Given the description of an element on the screen output the (x, y) to click on. 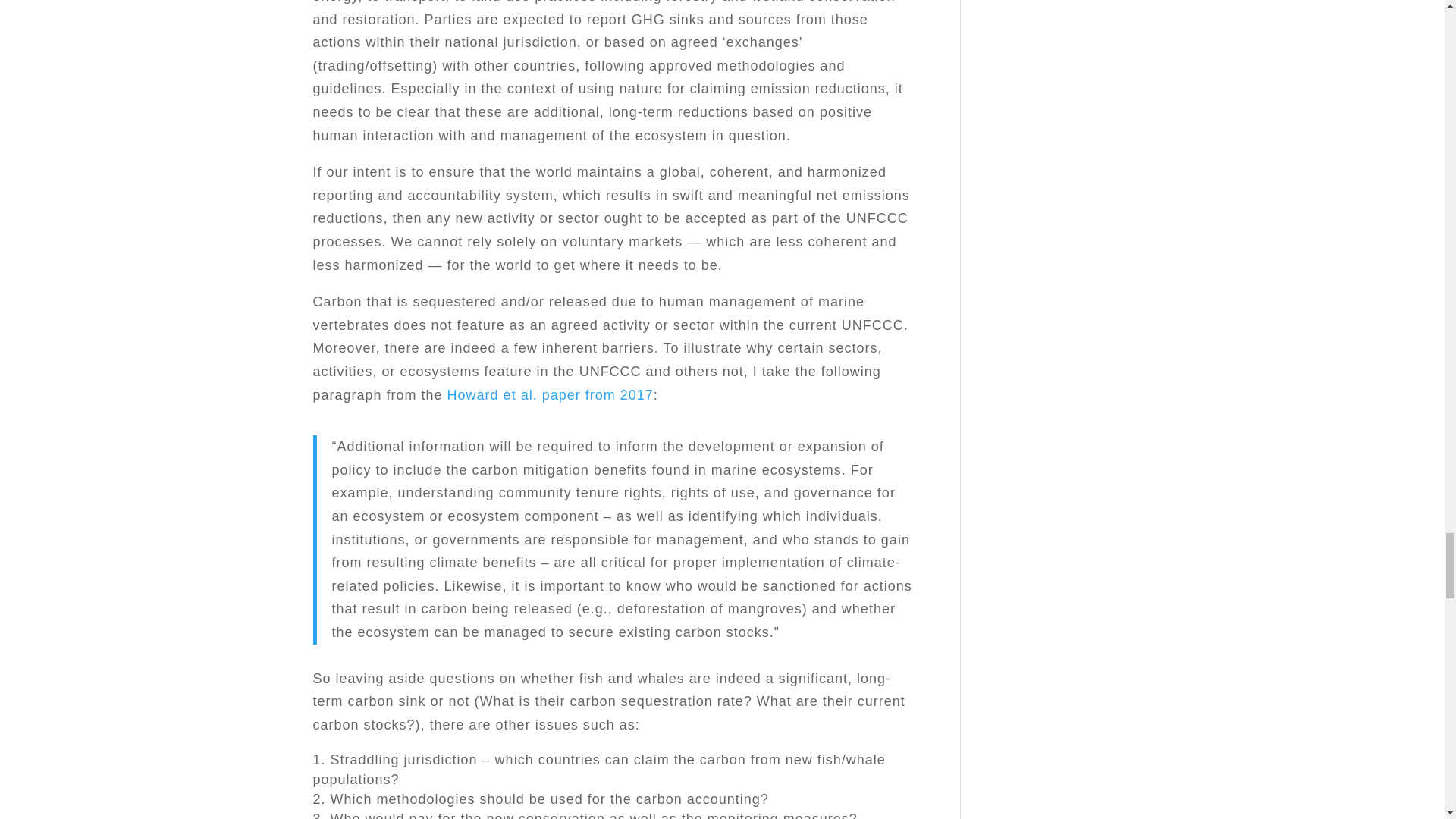
Howard et al. paper from 2017 (549, 394)
